Given the description of an element on the screen output the (x, y) to click on. 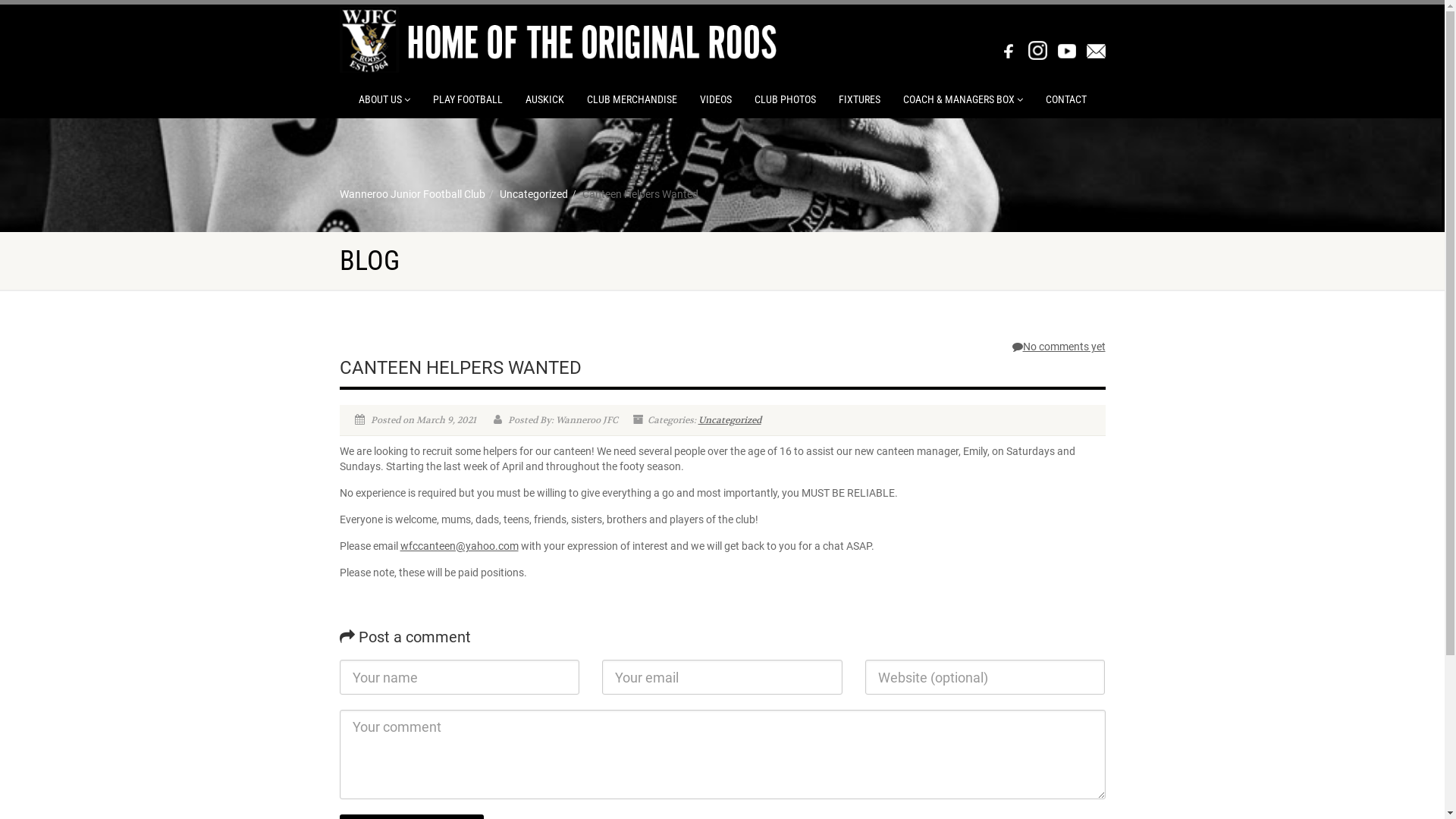
Wanneroo Junior Football Club Element type: text (412, 194)
Uncategorized Element type: text (728, 419)
AUSKICK Element type: text (544, 99)
No comments yet Element type: text (1057, 346)
COACH & MANAGERS BOX Element type: text (962, 99)
FIXTURES Element type: text (858, 99)
wfccanteen@yahoo.com Element type: text (459, 545)
ABOUT US Element type: text (384, 99)
CLUB PHOTOS Element type: text (785, 99)
WANNEROO JUNIOR FOOTBALL CLUB Element type: hover (558, 39)
PLAY FOOTBALL Element type: text (467, 99)
VIDEOS Element type: text (715, 99)
Uncategorized Element type: text (532, 194)
CLUB MERCHANDISE Element type: text (630, 99)
CONTACT Element type: text (1066, 99)
